Given the description of an element on the screen output the (x, y) to click on. 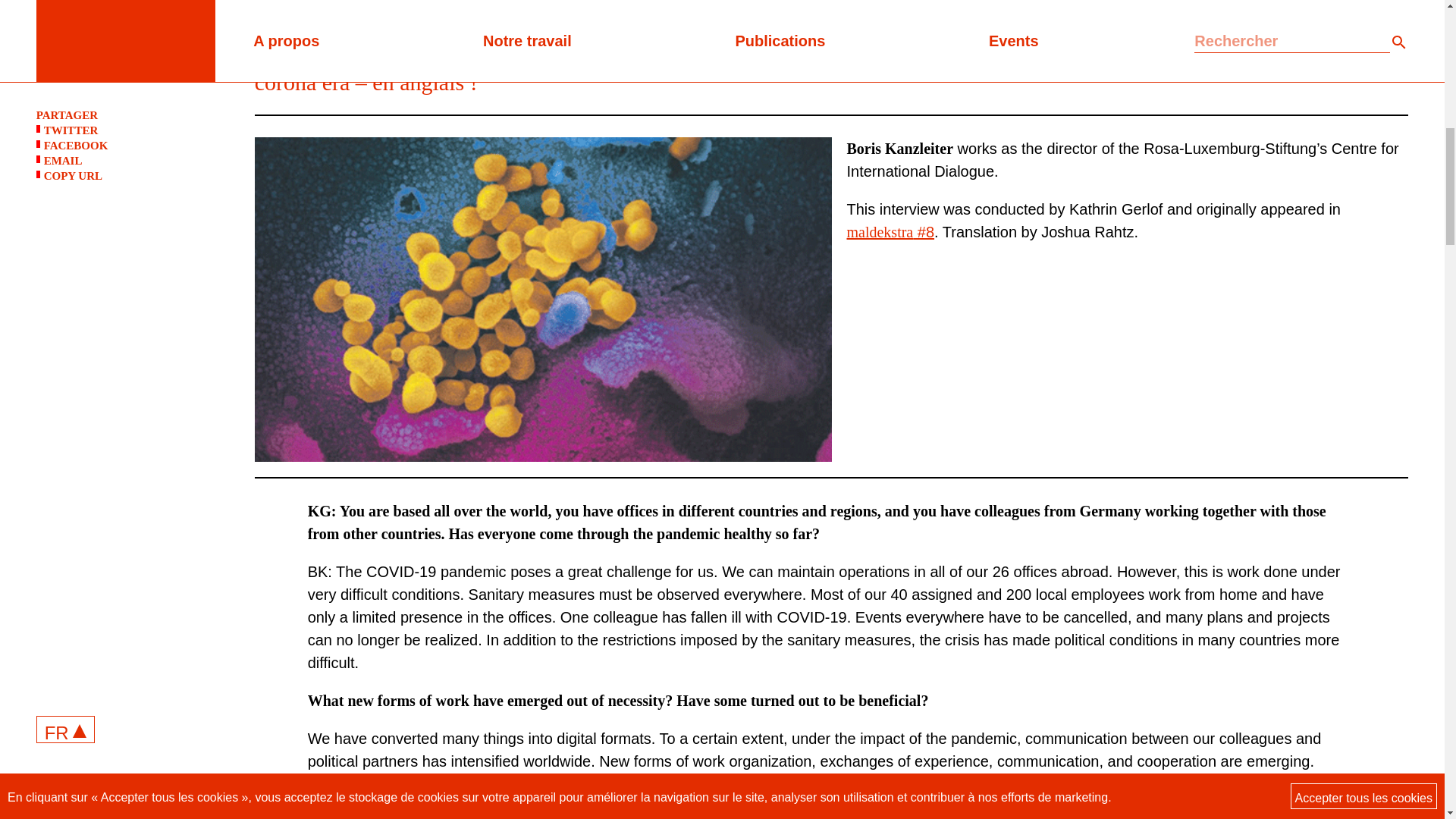
FACEBOOK (130, 66)
COPY URL (130, 97)
EMAIL (130, 81)
TWITTER (130, 51)
